Given the description of an element on the screen output the (x, y) to click on. 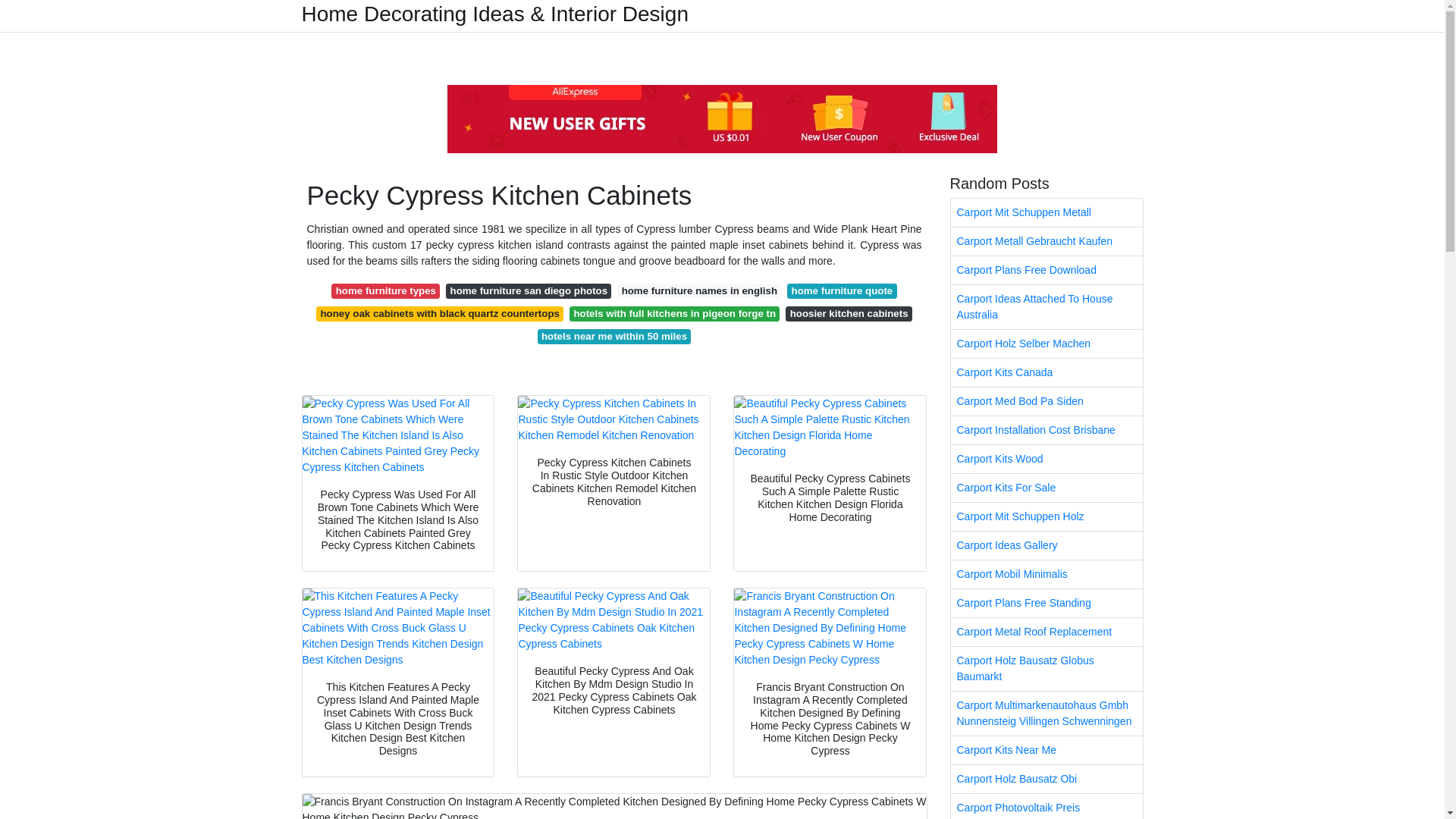
Carport Ideas Attached To House Australia (1046, 307)
Carport Med Bod Pa Siden (1046, 401)
home furniture names in english (698, 290)
home furniture types (385, 290)
Carport Kits Wood (1046, 459)
Carport Kits Canada (1046, 372)
home furniture quote (841, 290)
Carport Mit Schuppen Metall (1046, 212)
Carport Holz Selber Machen (1046, 343)
hoosier kitchen cabinets (849, 313)
